Given the description of an element on the screen output the (x, y) to click on. 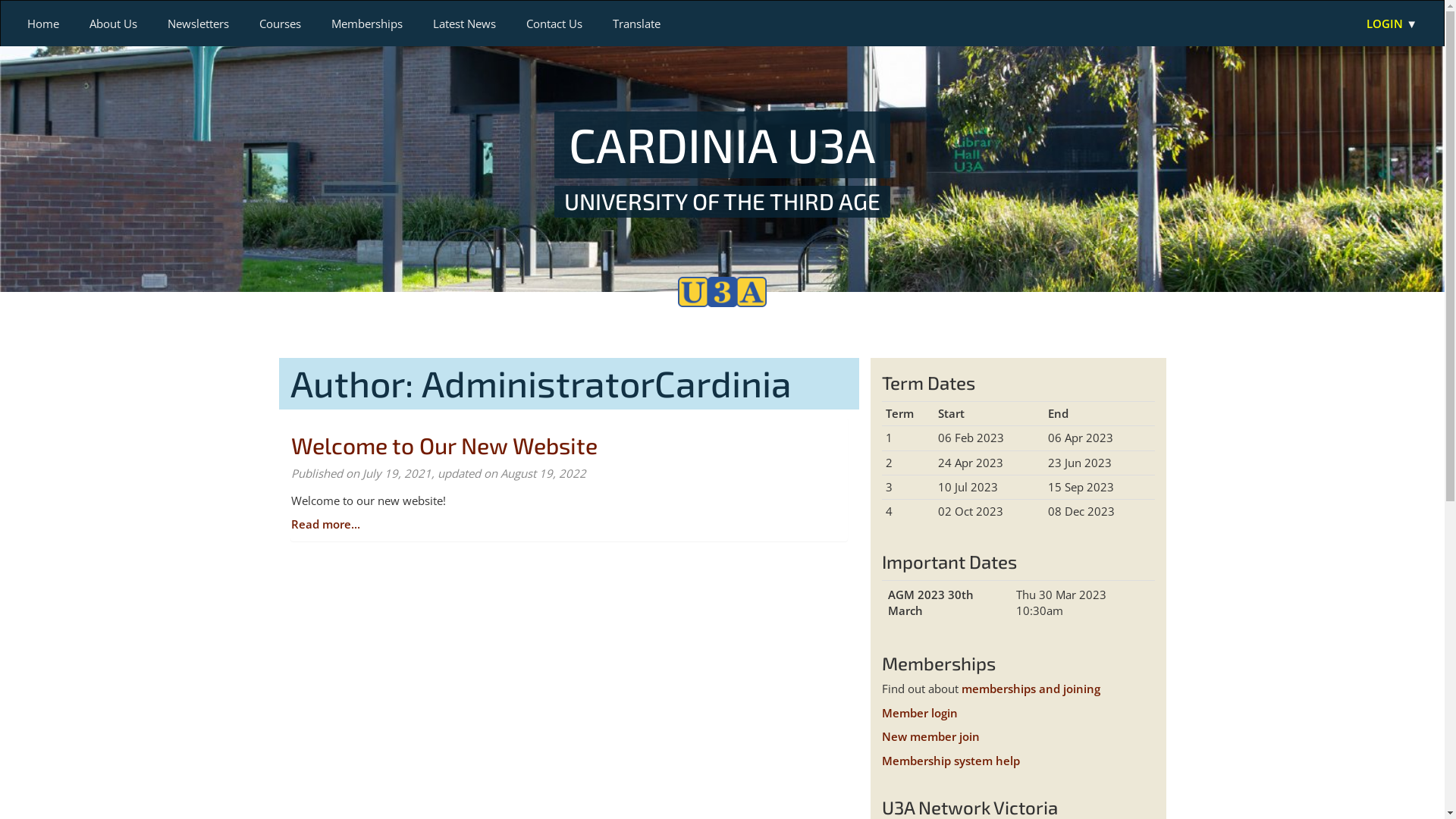
CARDINIA U3A
UNIVERSITY OF THE THIRD AGE Element type: text (722, 163)
Home Element type: text (43, 23)
Member login Element type: text (919, 712)
Newsletters Element type: text (198, 23)
About Us Element type: text (113, 23)
Courses Element type: text (280, 23)
LOGIN Element type: text (1391, 23)
New member join Element type: text (930, 735)
Welcome to Our New Website Element type: text (444, 444)
Read more... Element type: text (325, 523)
Memberships Element type: text (366, 23)
Contact Us Element type: text (554, 23)
Translate Element type: text (636, 23)
memberships and joining Element type: text (1030, 688)
Membership system help Element type: text (950, 760)
Latest News Element type: text (464, 23)
